Given the description of an element on the screen output the (x, y) to click on. 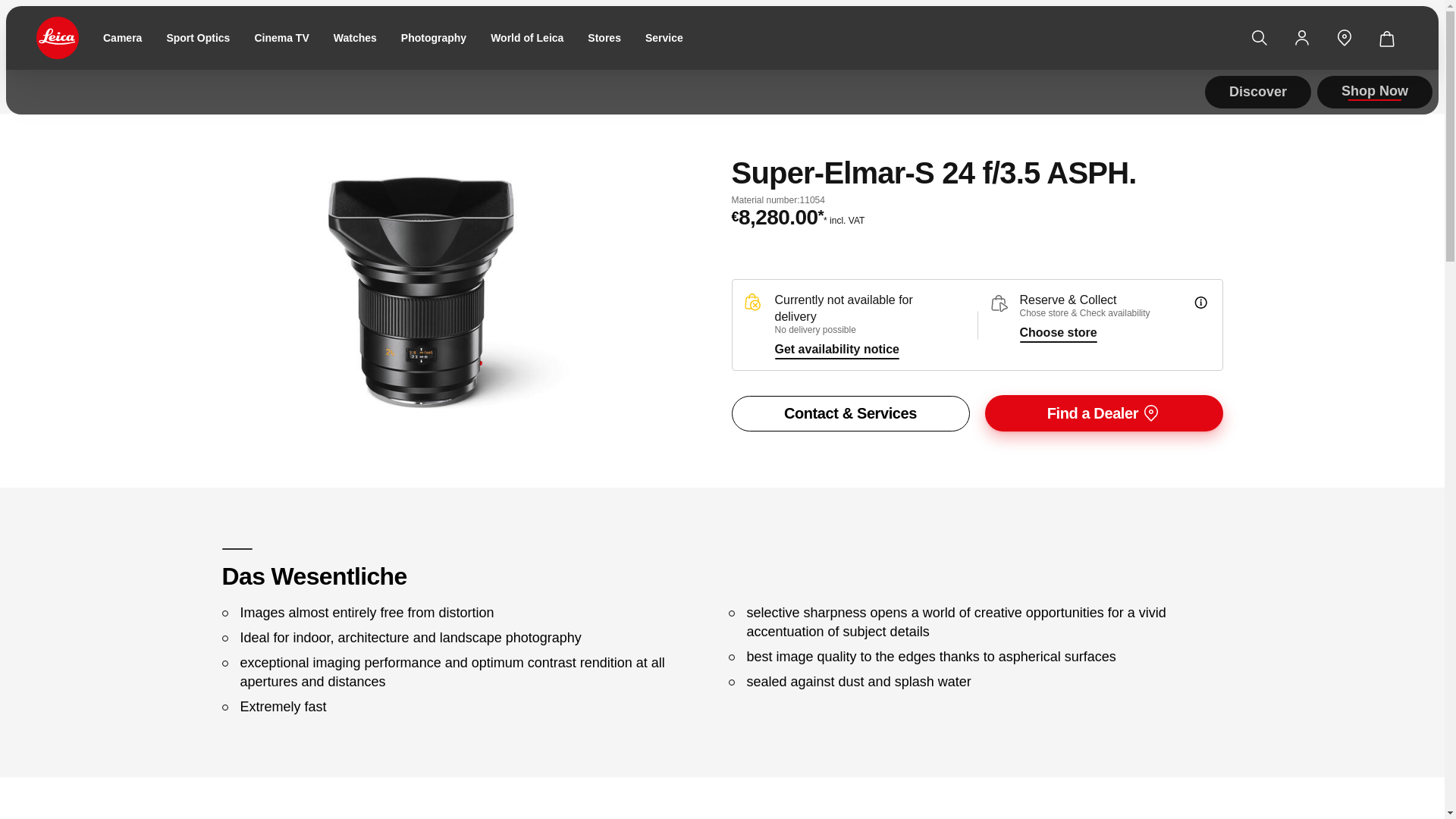
Shop Now (1374, 91)
Discover (1258, 92)
Open menu (8, 5)
